Given the description of an element on the screen output the (x, y) to click on. 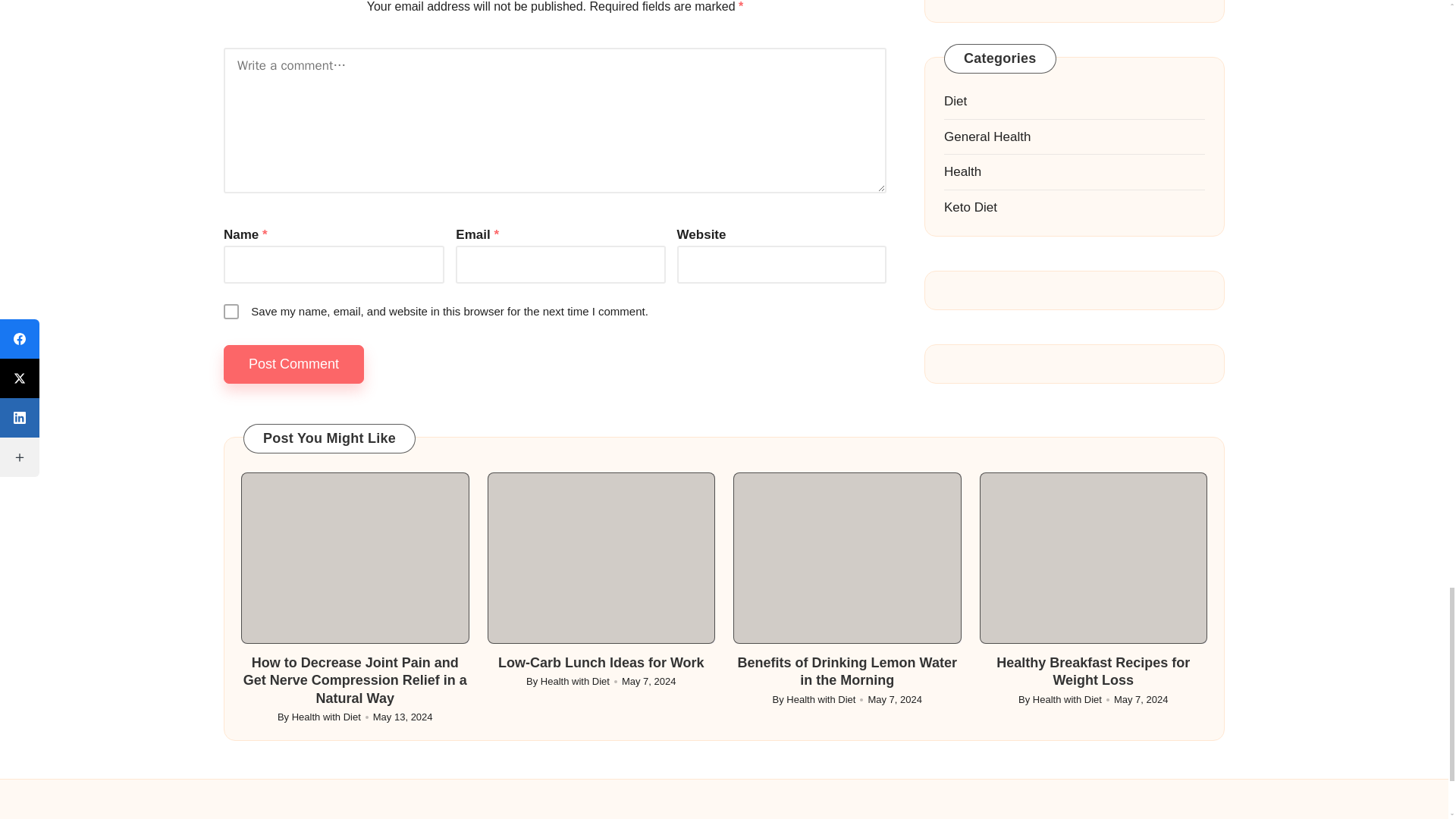
Healthy Breakfast Recipes for Weight Loss 6 (1093, 557)
View all posts by Health with Diet (1067, 699)
View all posts by Health with Diet (326, 716)
View all posts by Health with Diet (575, 681)
Benefits of Drinking Lemon Water in the Morning 5 (846, 557)
Low-Carb Lunch Ideas for Work 4 (600, 557)
yes (231, 311)
Post Comment (294, 364)
View all posts by Health with Diet (821, 699)
